Given the description of an element on the screen output the (x, y) to click on. 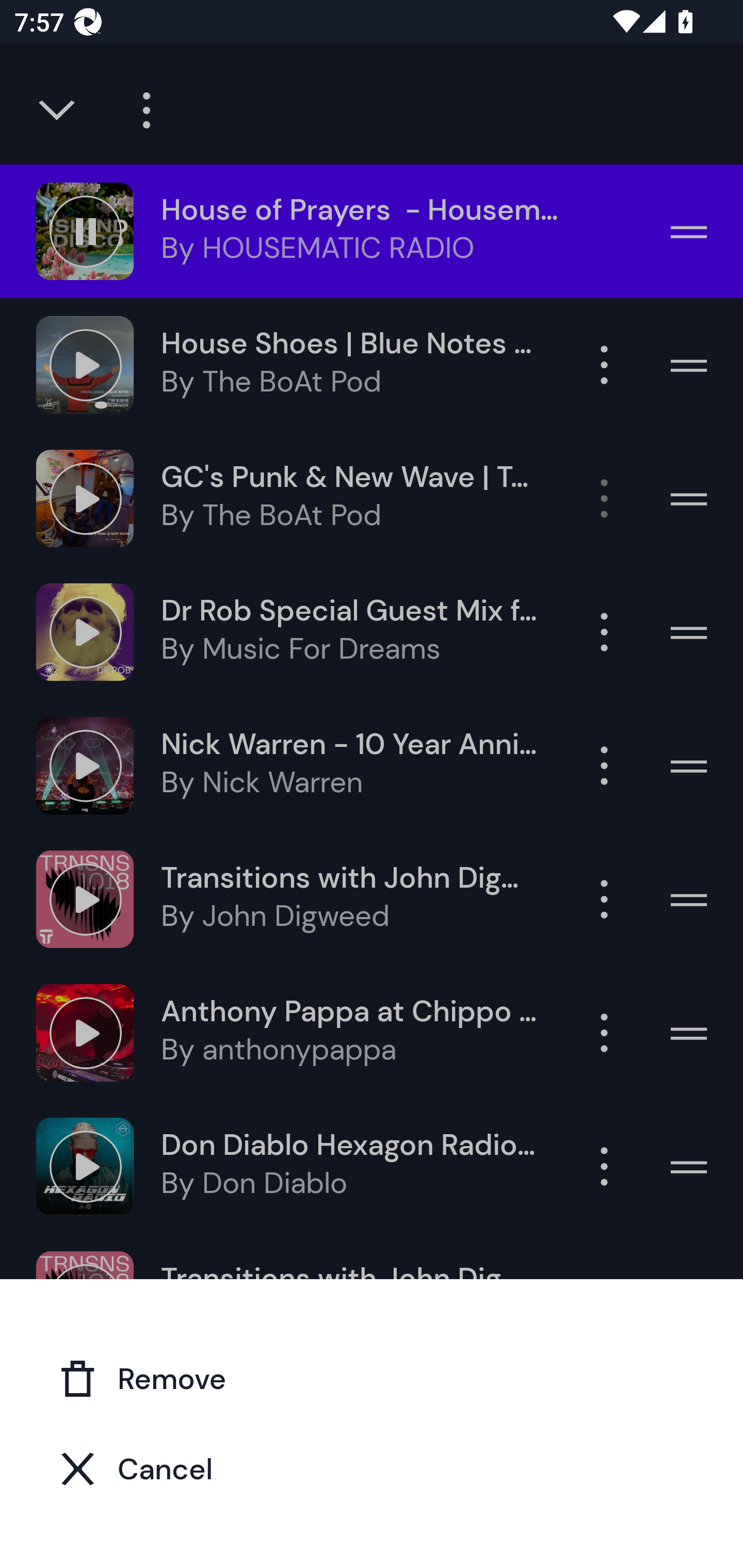
Closes the queue (58, 110)
Queue more options button (139, 110)
Show options button (604, 364)
Show options button (604, 498)
Show options button (604, 631)
Show options button (604, 764)
Show options button (604, 898)
Remove (371, 1377)
Cancel (371, 1468)
